Given the description of an element on the screen output the (x, y) to click on. 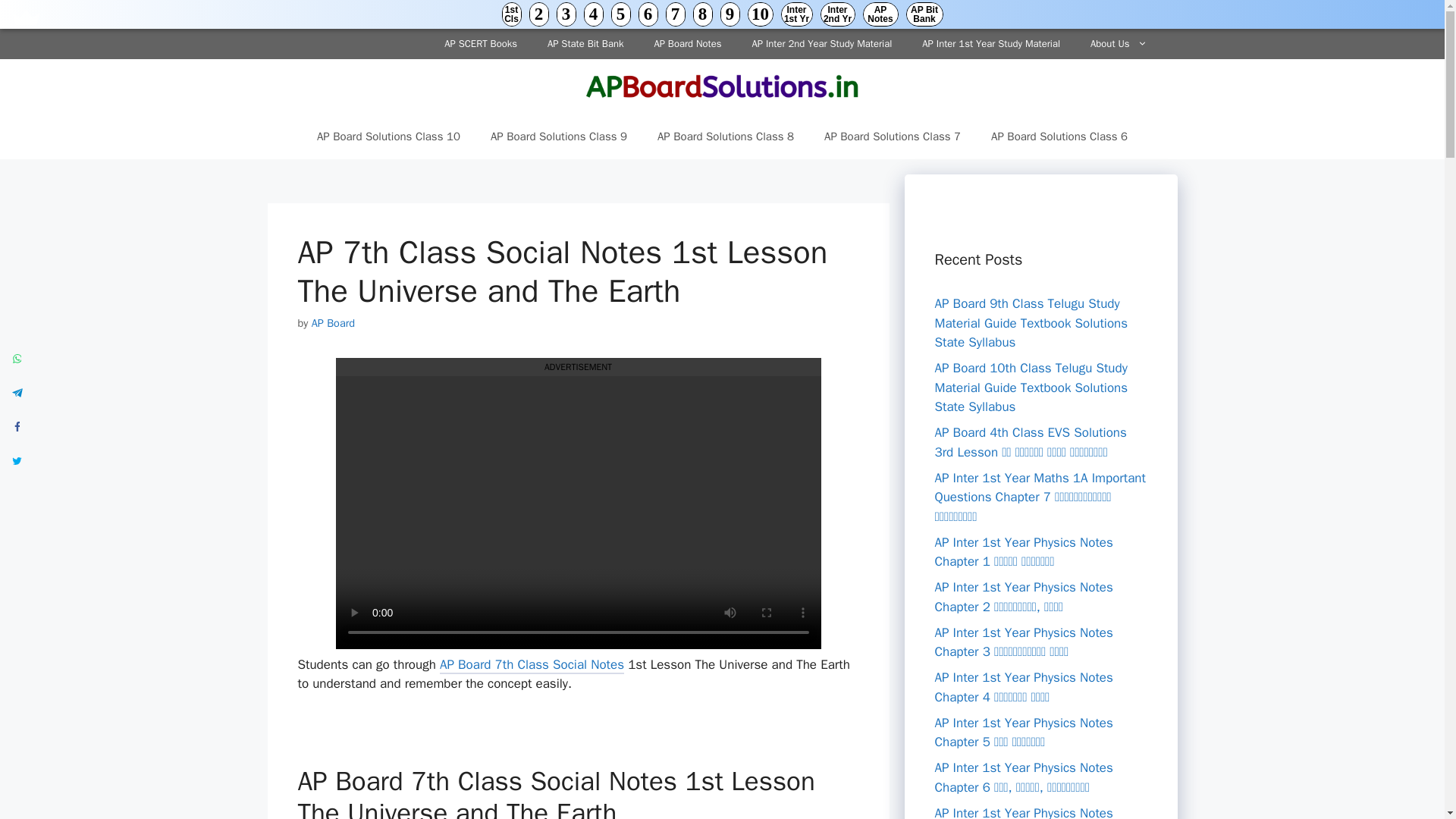
Share on WhatsApp (16, 358)
View all posts by AP Board (333, 323)
AP Board Solutions (722, 84)
AP Board (333, 323)
About Us (1118, 43)
2 (538, 14)
6 (647, 14)
AP Board Solutions Class 7 (892, 135)
AP Board Solutions (722, 86)
Inter 2nd Yr (837, 14)
AP Board Notes (687, 43)
3 (565, 14)
AP Board Solutions Class 9 (559, 135)
8 (702, 14)
10 (759, 14)
